Given the description of an element on the screen output the (x, y) to click on. 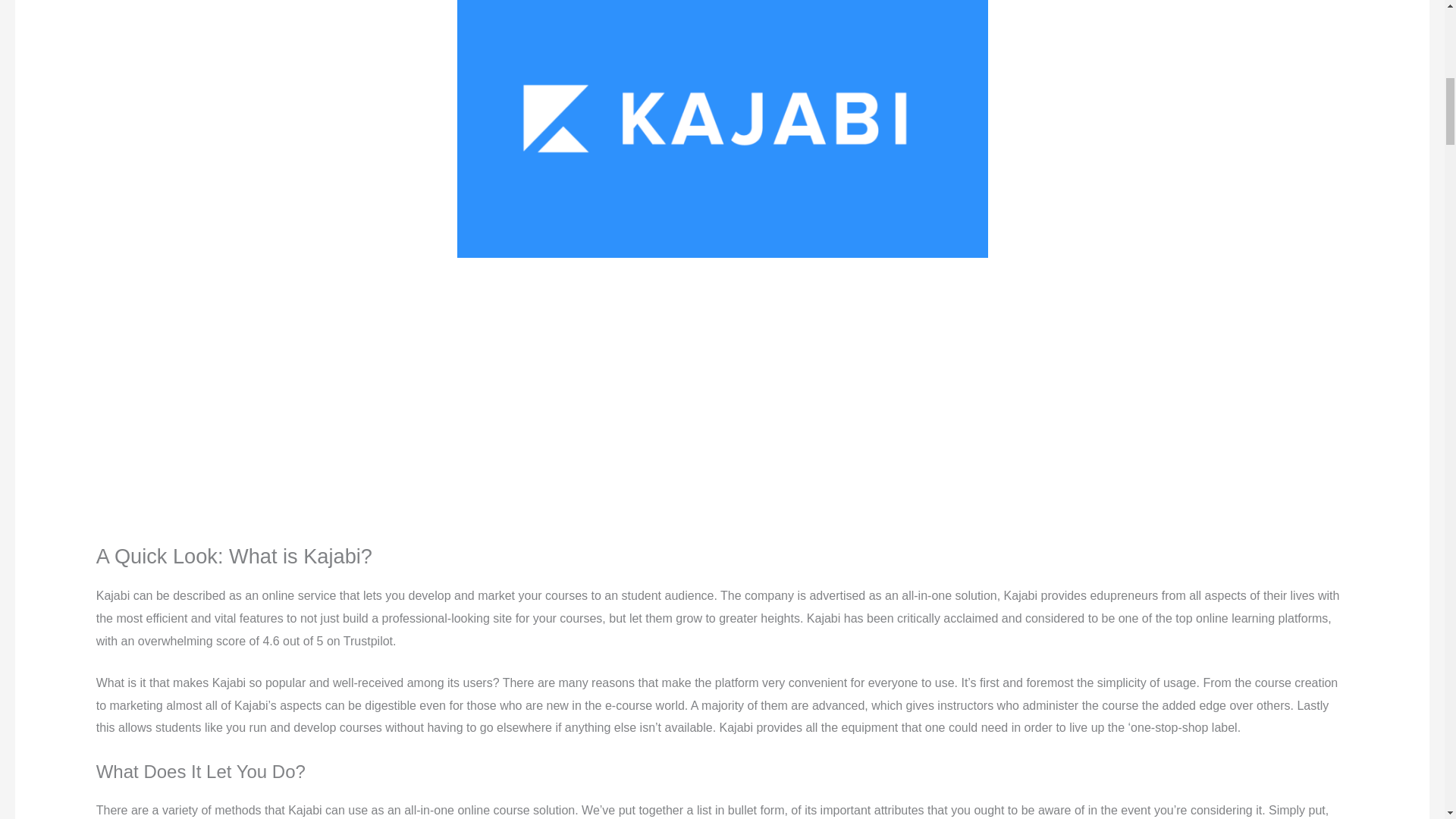
YouTube video player (308, 396)
